Given the description of an element on the screen output the (x, y) to click on. 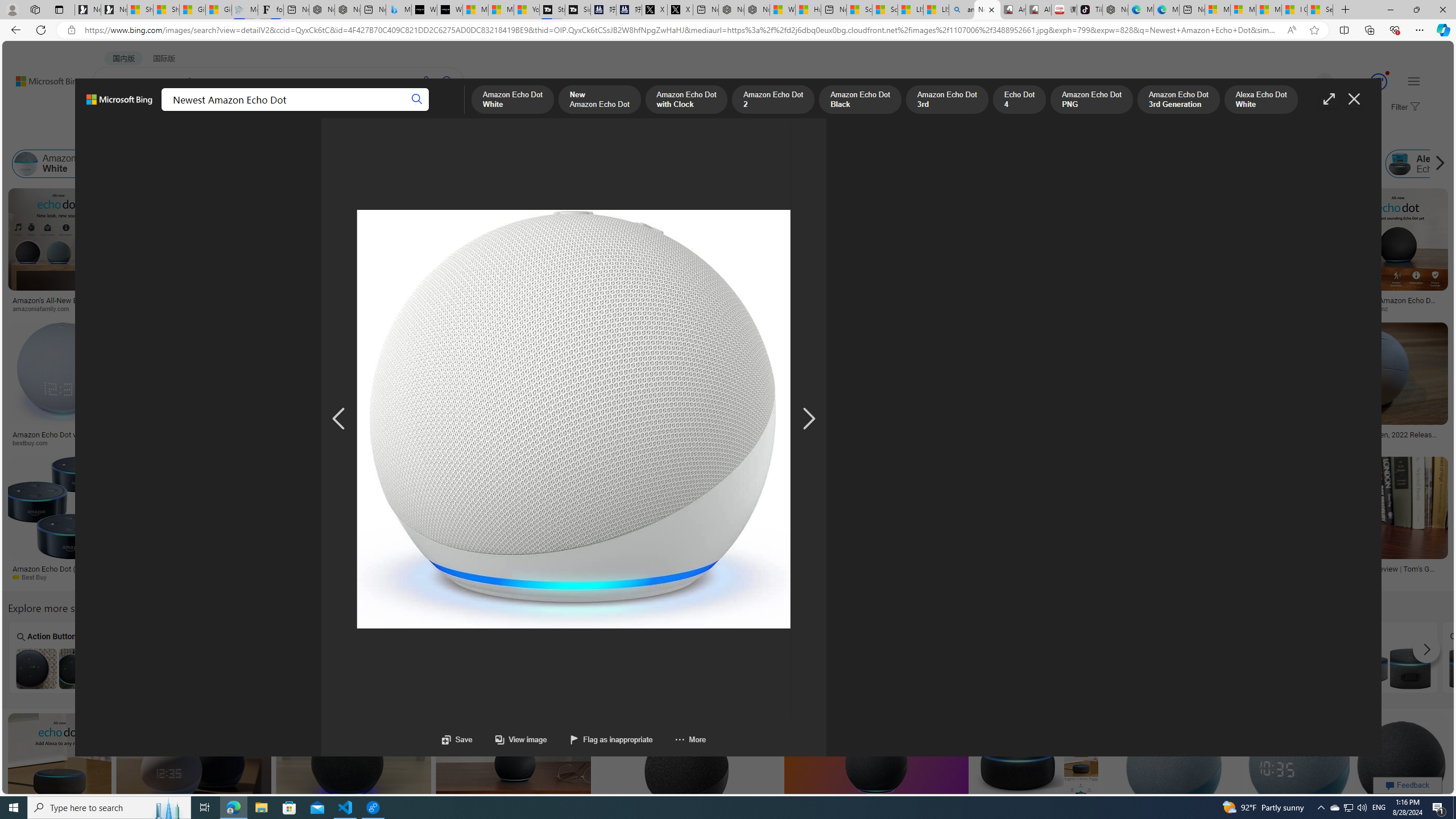
Search button (417, 99)
